Given the description of an element on the screen output the (x, y) to click on. 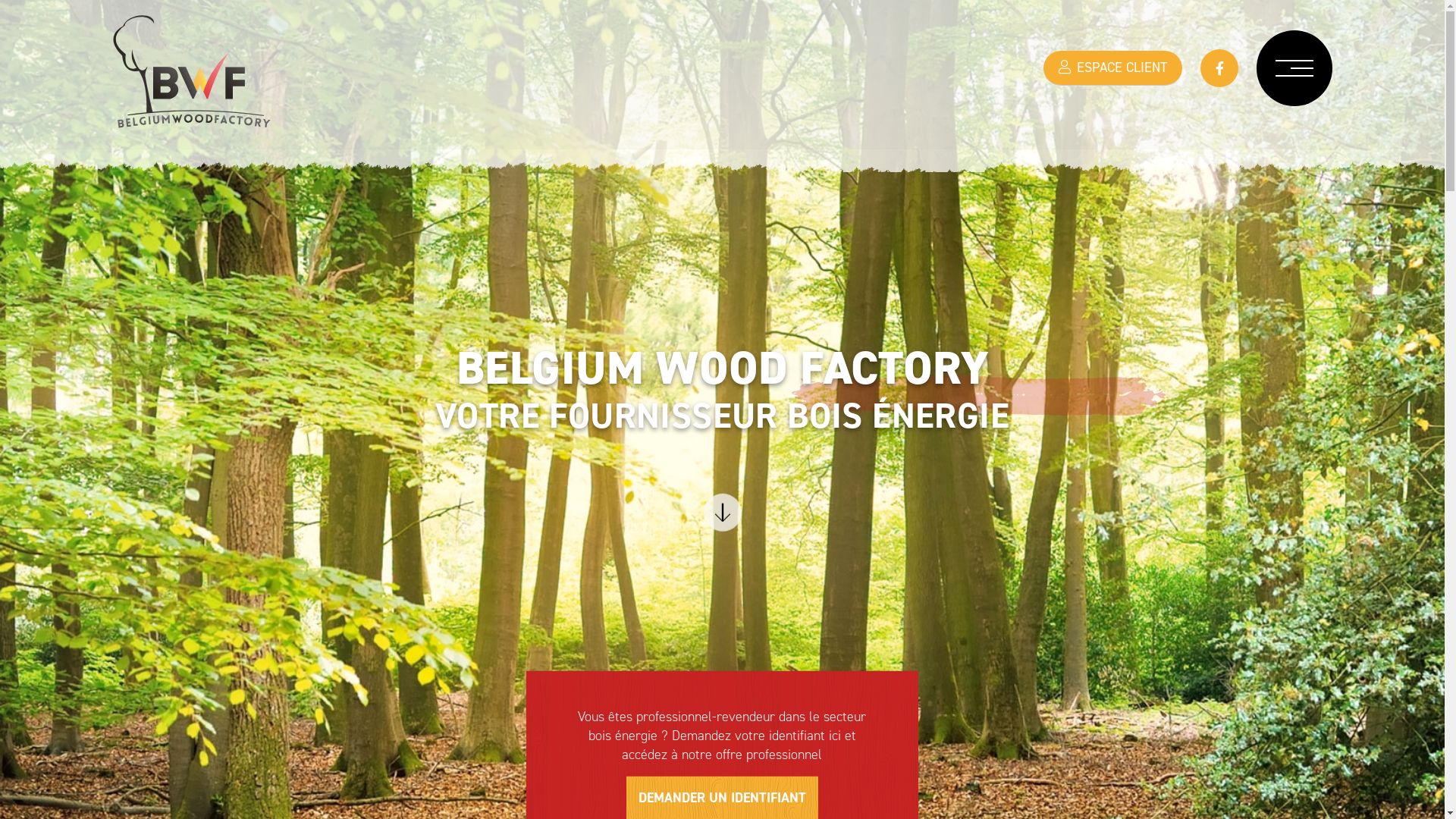
ESPACE CLIENT Element type: text (1112, 67)
BELGIUM WOOD FACTORY Element type: text (191, 86)
